Given the description of an element on the screen output the (x, y) to click on. 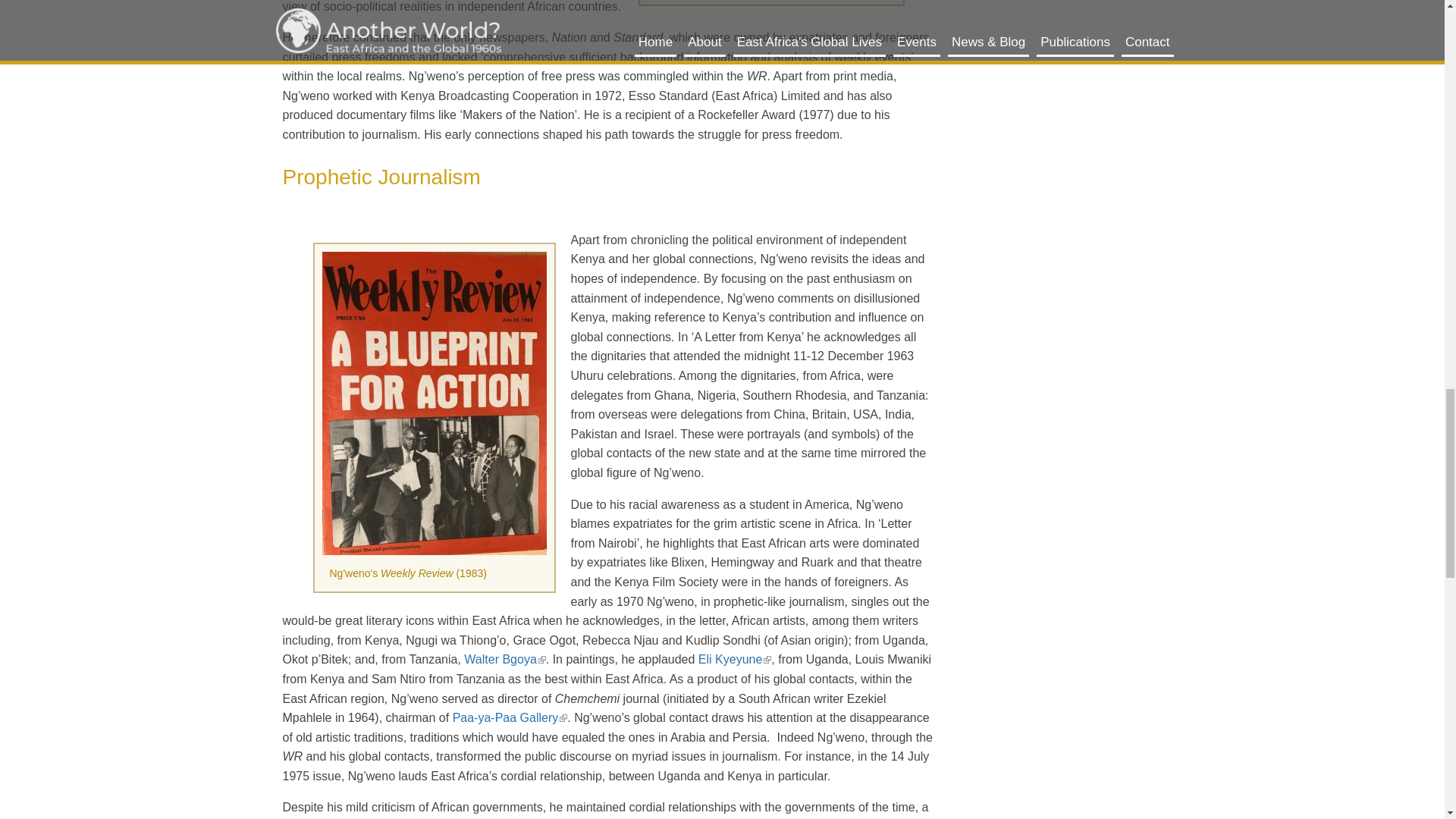
Eli Kyeyune (734, 658)
Paa-ya-Paa Gallery (509, 717)
Walter Bgoya (504, 658)
